Given the description of an element on the screen output the (x, y) to click on. 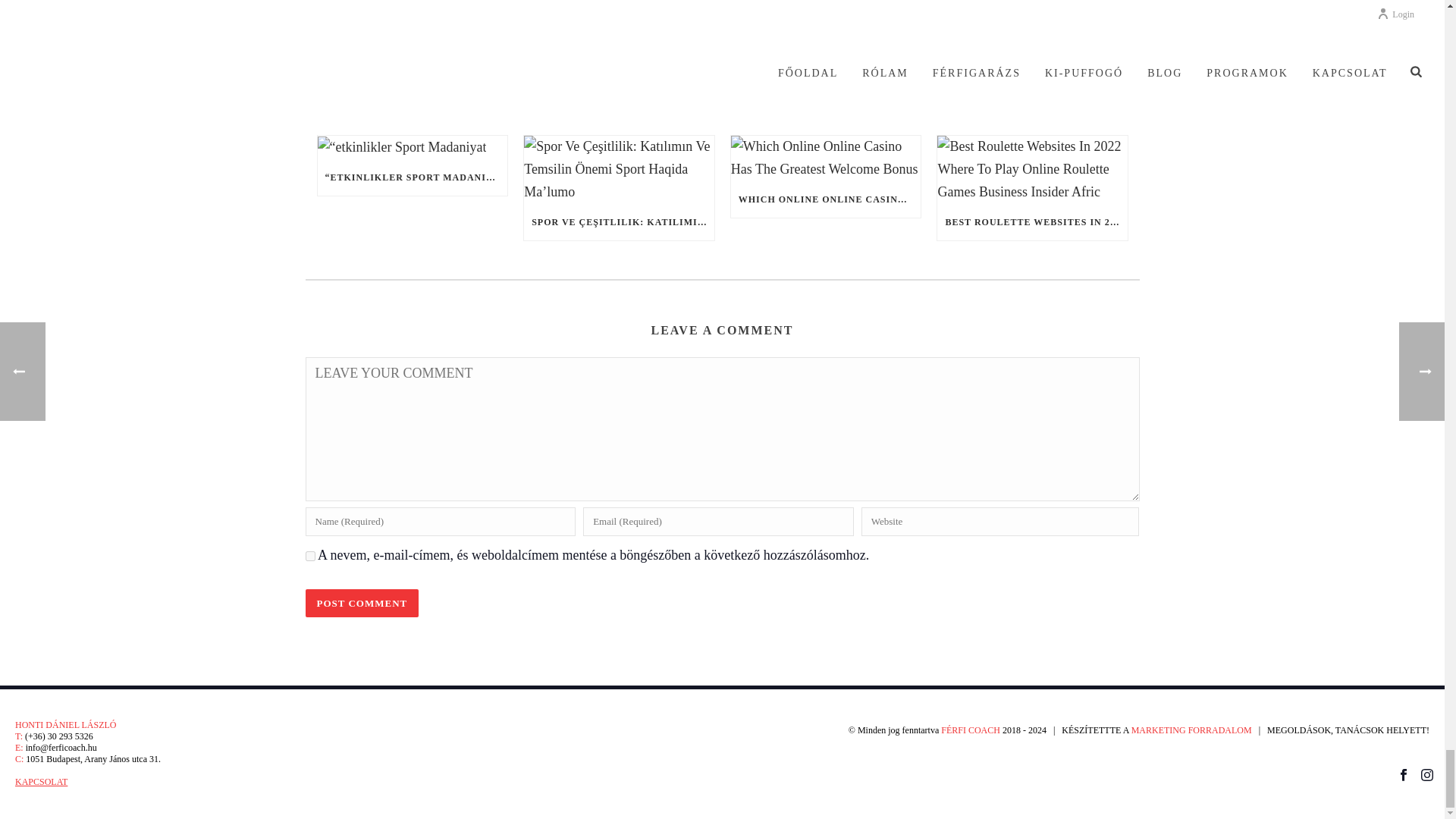
Which Online Online Casino Has The Greatest Welcome Bonus (825, 157)
noelAdmin (721, 7)
yes (309, 556)
POST COMMENT (361, 602)
